Given the description of an element on the screen output the (x, y) to click on. 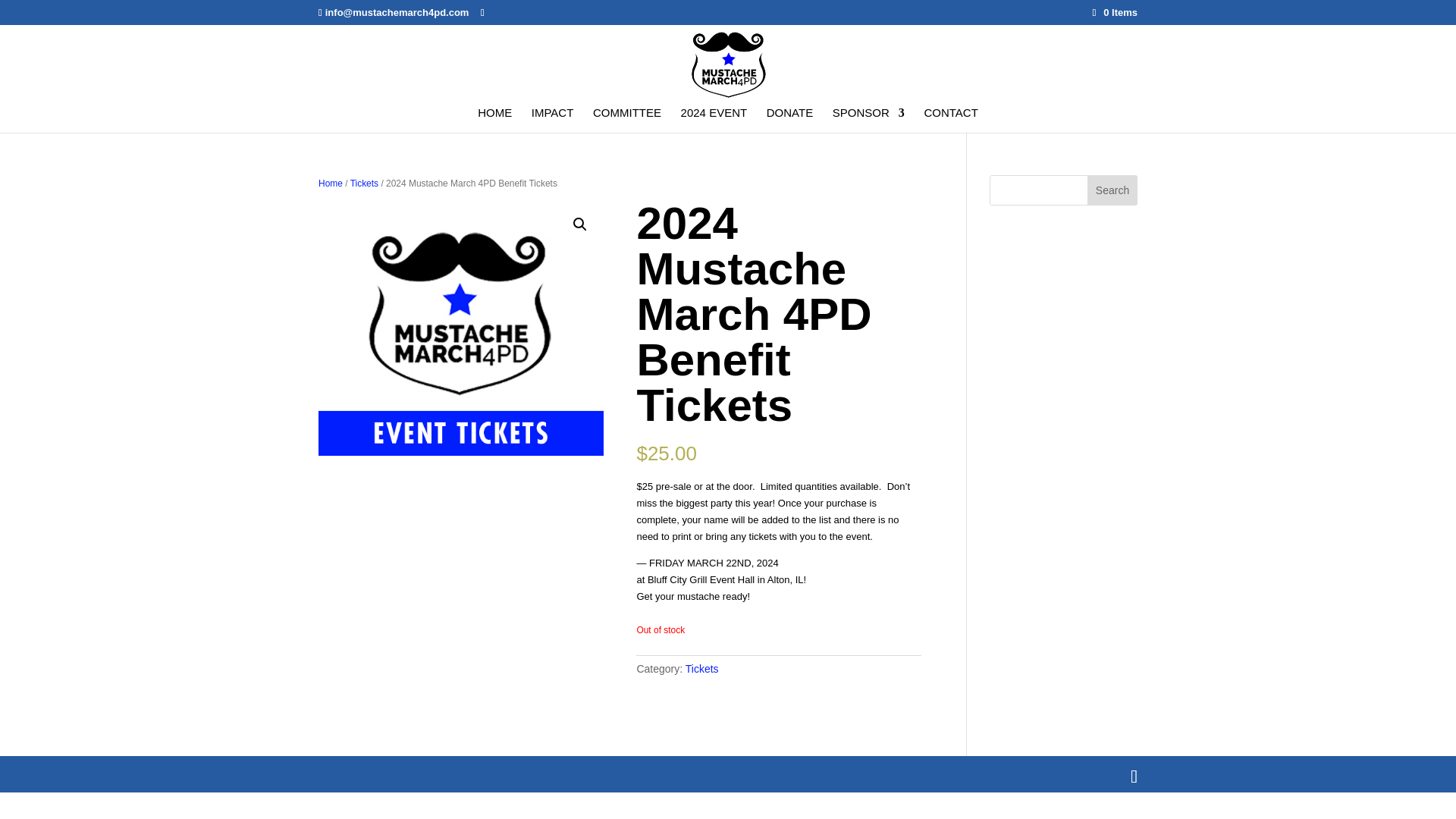
0 Items (1114, 12)
CONTACT (949, 119)
COMMITTEE (626, 119)
SPONSOR (868, 119)
Tickets (364, 183)
DONATE (789, 119)
IMPACT (552, 119)
MM4PD-EVENTTICKETS (461, 343)
Search (1112, 190)
Home (330, 183)
HOME (494, 119)
Search (1112, 190)
2024 EVENT (714, 119)
Tickets (702, 668)
